Given the description of an element on the screen output the (x, y) to click on. 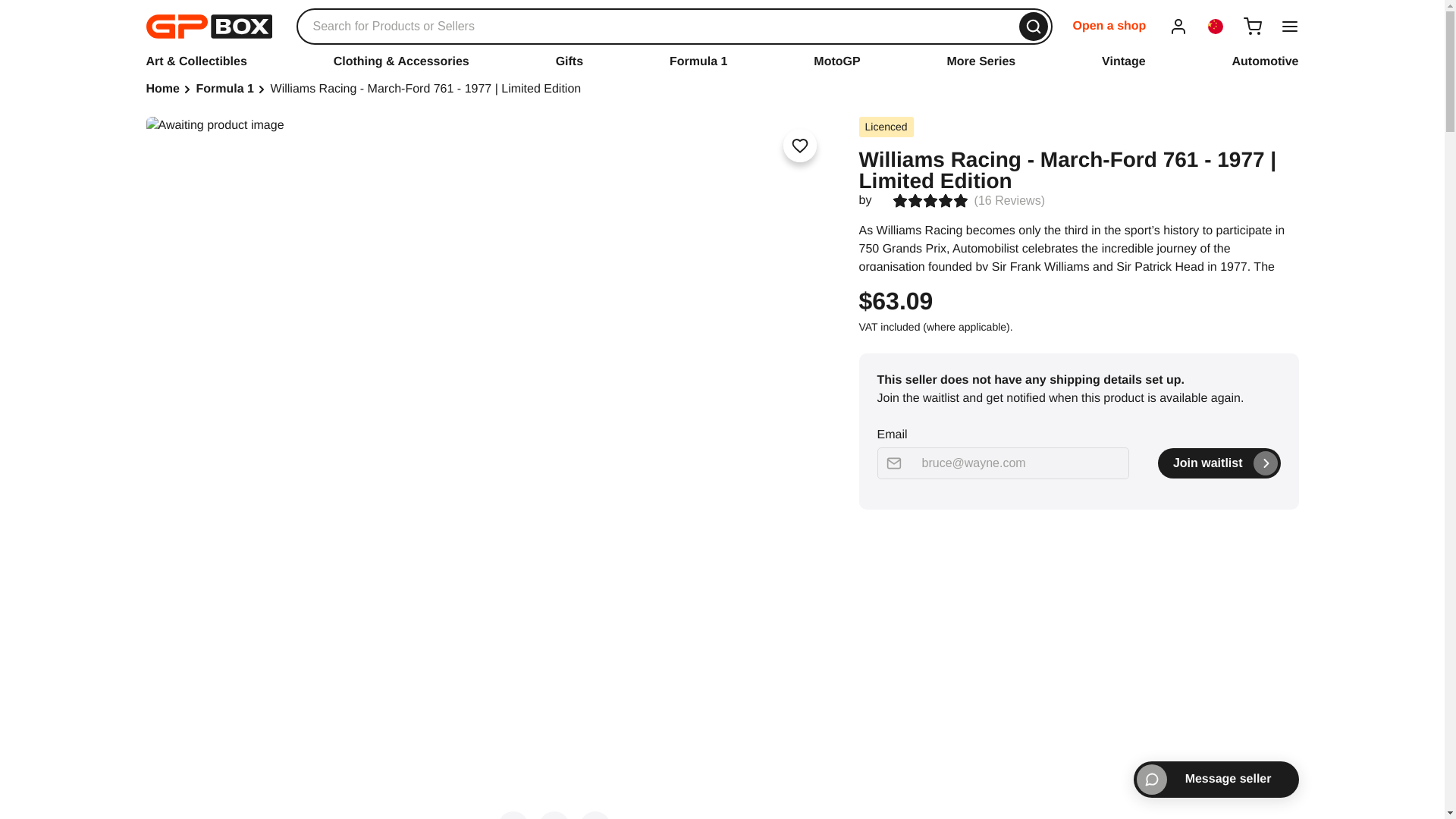
Gifts (569, 61)
MotoGP (836, 61)
Search Submit (1033, 26)
Vintage (1123, 61)
Current Country Flag (1214, 26)
Click to see share on Pinterest (594, 815)
Formula 1 (697, 61)
Click to see share on Twitter (512, 815)
Main Menu (1289, 26)
Shopping Cart (1252, 26)
